Given the description of an element on the screen output the (x, y) to click on. 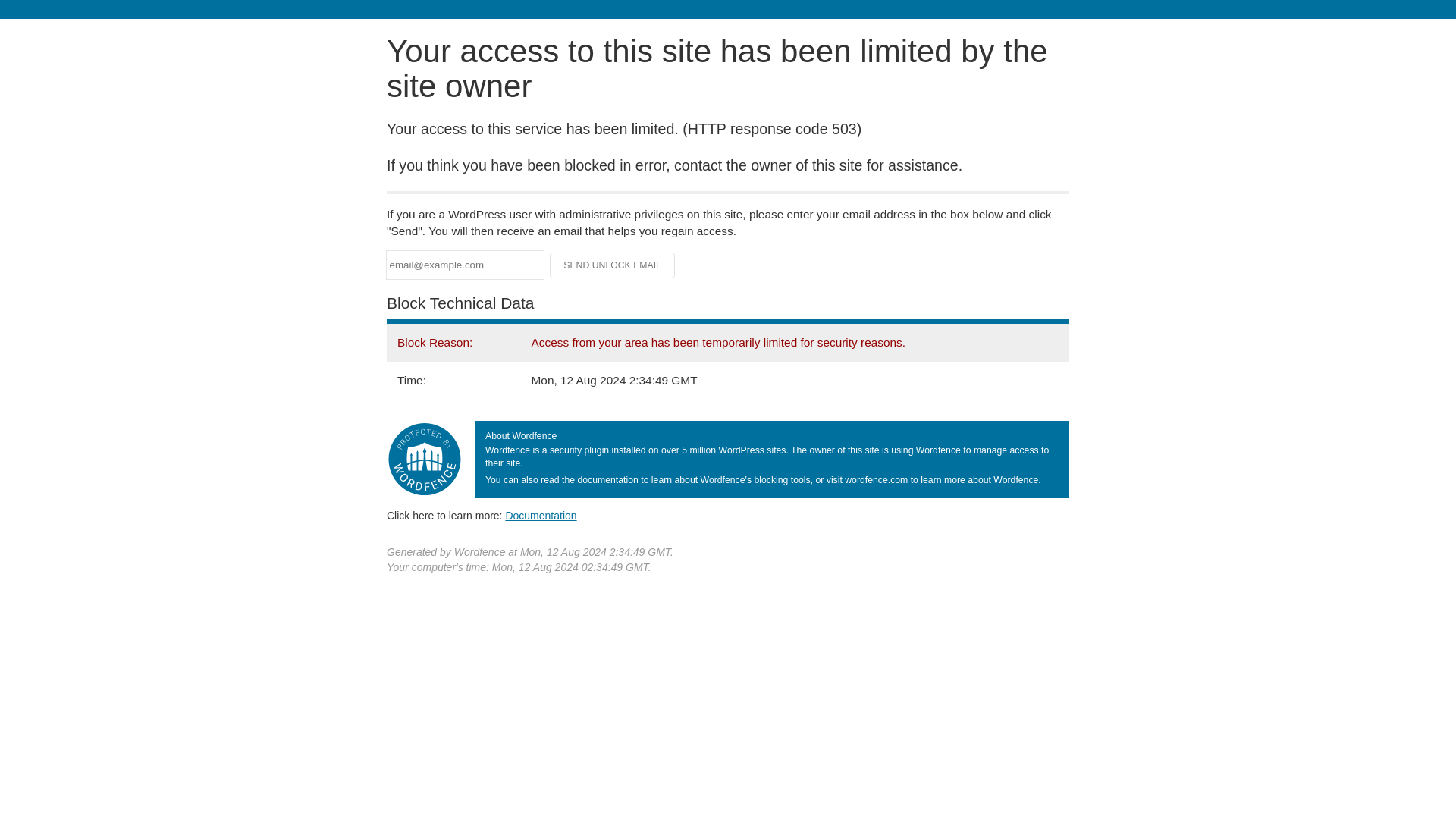
Documentation (540, 515)
Send Unlock Email (612, 265)
Send Unlock Email (612, 265)
